Given the description of an element on the screen output the (x, y) to click on. 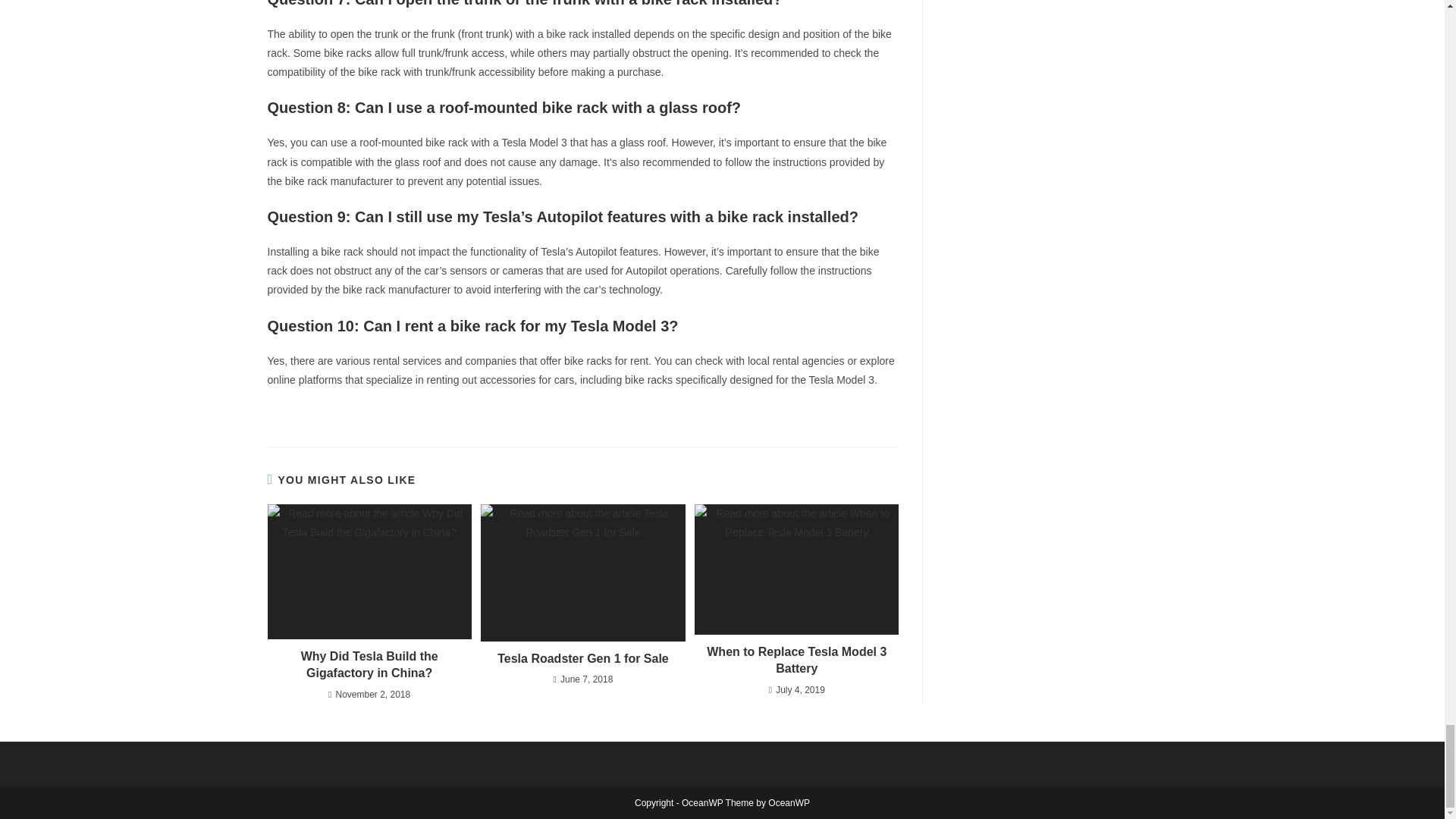
Tesla Roadster Gen 1 for Sale (582, 658)
Why Did Tesla Build the Gigafactory in China? (368, 665)
When to Replace Tesla Model 3 Battery (796, 660)
